Given the description of an element on the screen output the (x, y) to click on. 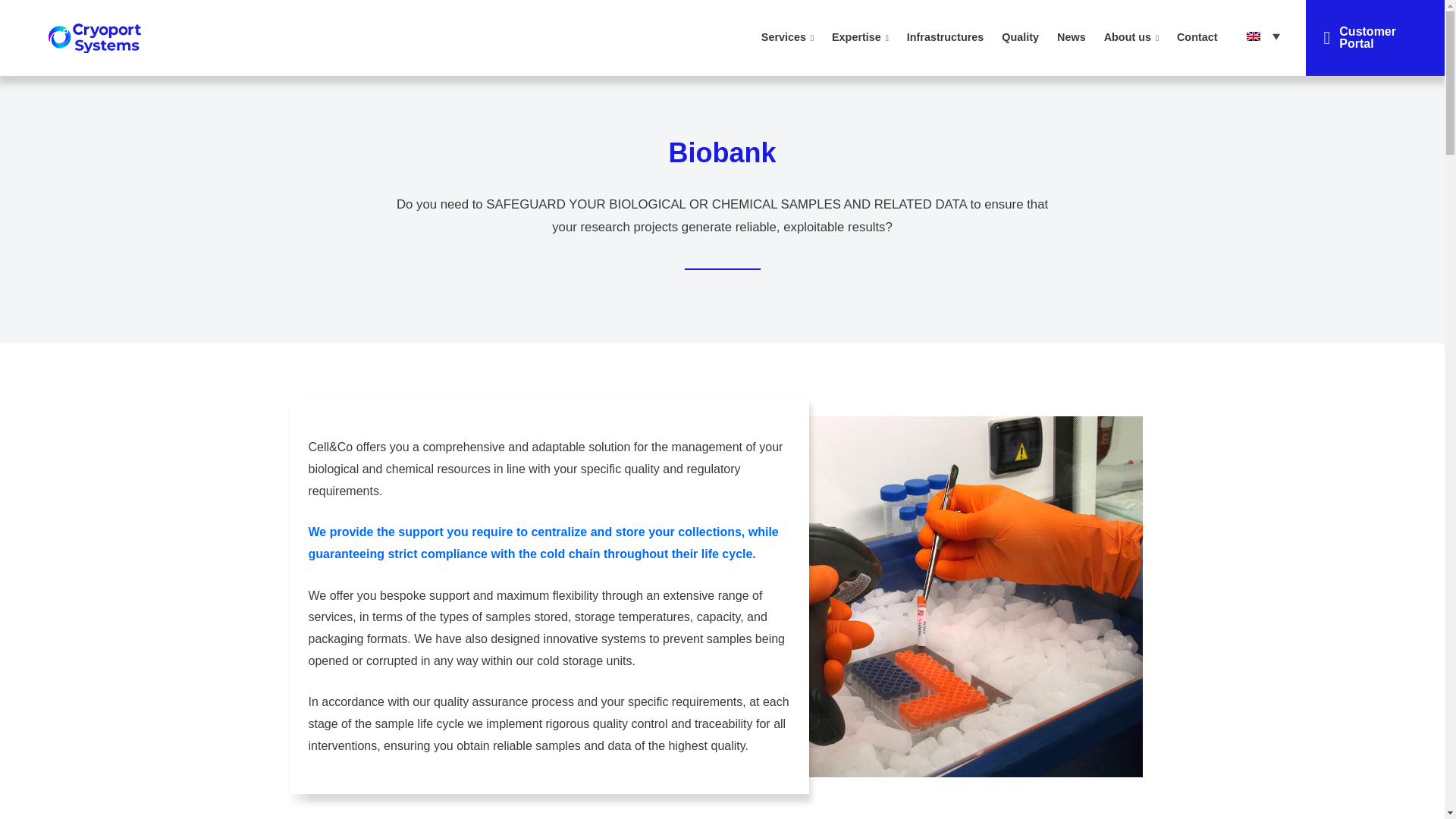
Services (787, 37)
Quality (1020, 37)
About us (1130, 37)
News (1071, 37)
Contact (1197, 37)
Expertise (860, 37)
Infrastructures (945, 37)
